Given the description of an element on the screen output the (x, y) to click on. 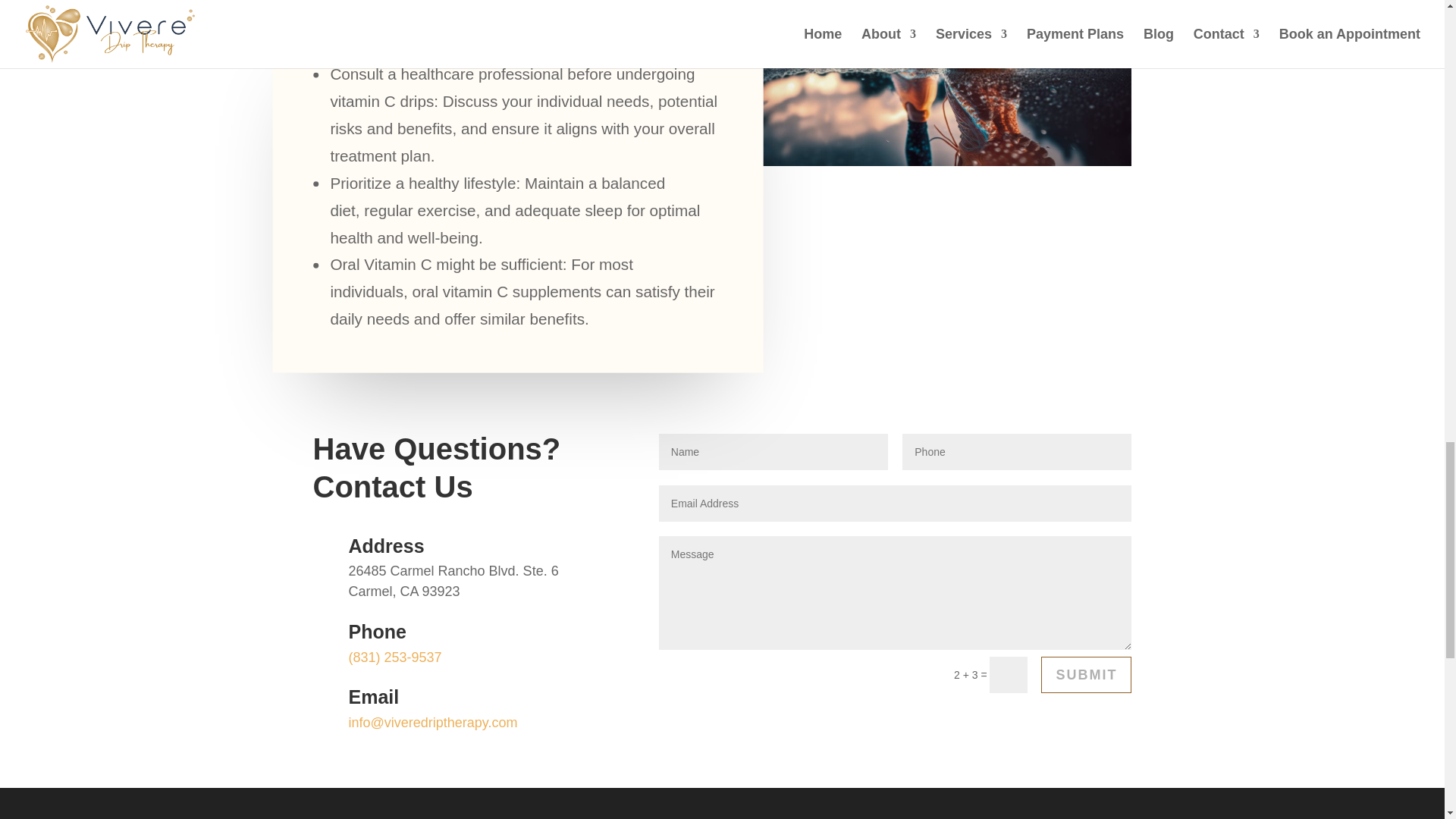
SUBMIT (1086, 674)
Page 1 (480, 722)
Minimum length: 10 characters.  (1016, 452)
